Given the description of an element on the screen output the (x, y) to click on. 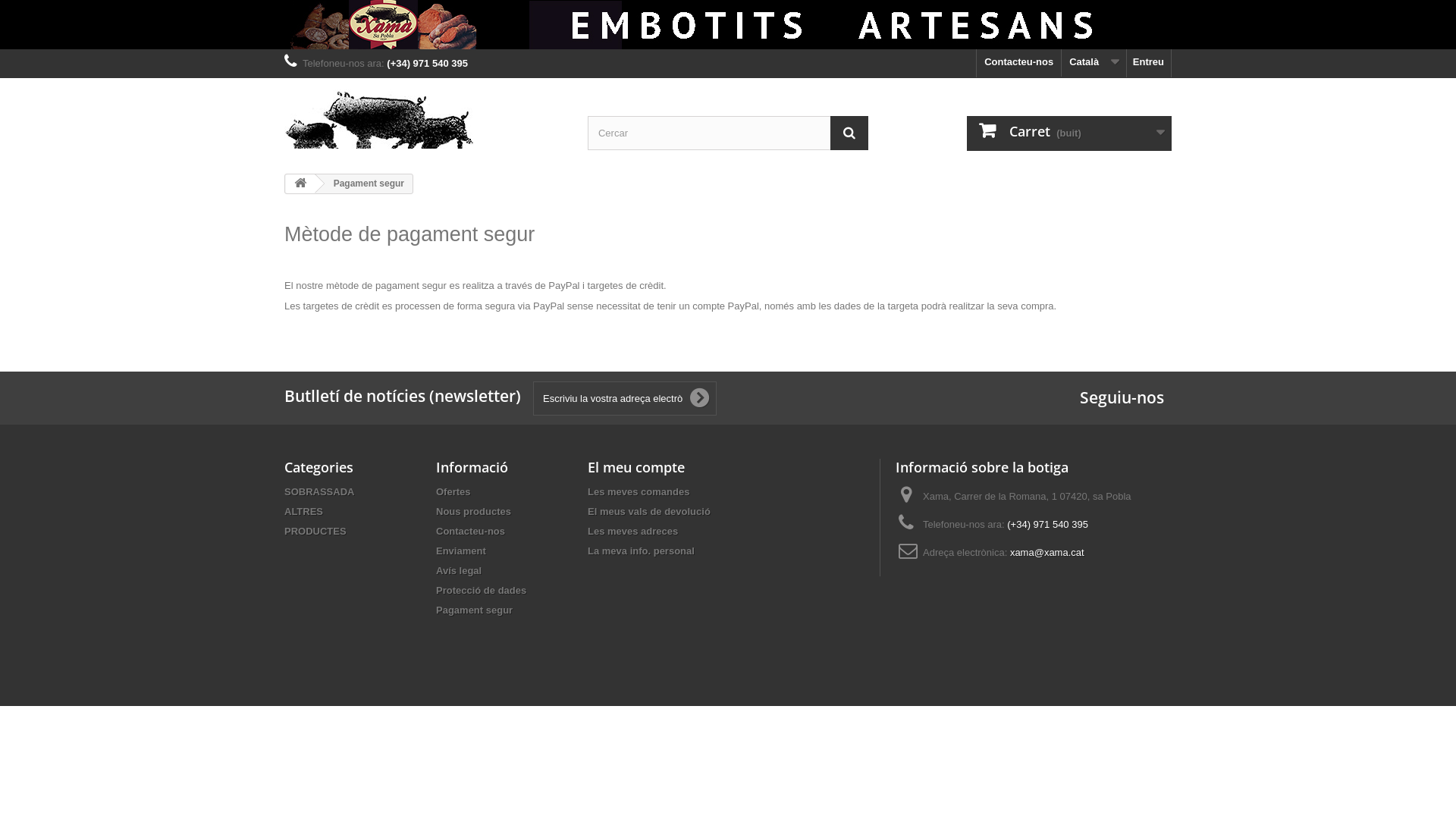
Carret (buit) Element type: text (1068, 133)
ALTRES Element type: text (303, 511)
Tornar a l'inici Element type: hover (299, 183)
Contacteu-nos Element type: text (1018, 63)
Nous productes Element type: text (473, 511)
El meu compte Element type: text (635, 467)
xama@xama.cat Element type: text (1047, 552)
Les meves comandes Element type: text (638, 491)
PRODUCTES Element type: text (315, 530)
Ofertes Element type: text (453, 491)
La meva info. personal Element type: text (640, 550)
Botiga Xama Element type: hover (424, 118)
Les meves adreces Element type: text (632, 530)
Entreu Element type: text (1148, 63)
Contacteu-nos Element type: text (470, 530)
SOBRASSADA Element type: text (319, 491)
Enviament Element type: text (461, 550)
Pagament segur Element type: text (474, 609)
